Given the description of an element on the screen output the (x, y) to click on. 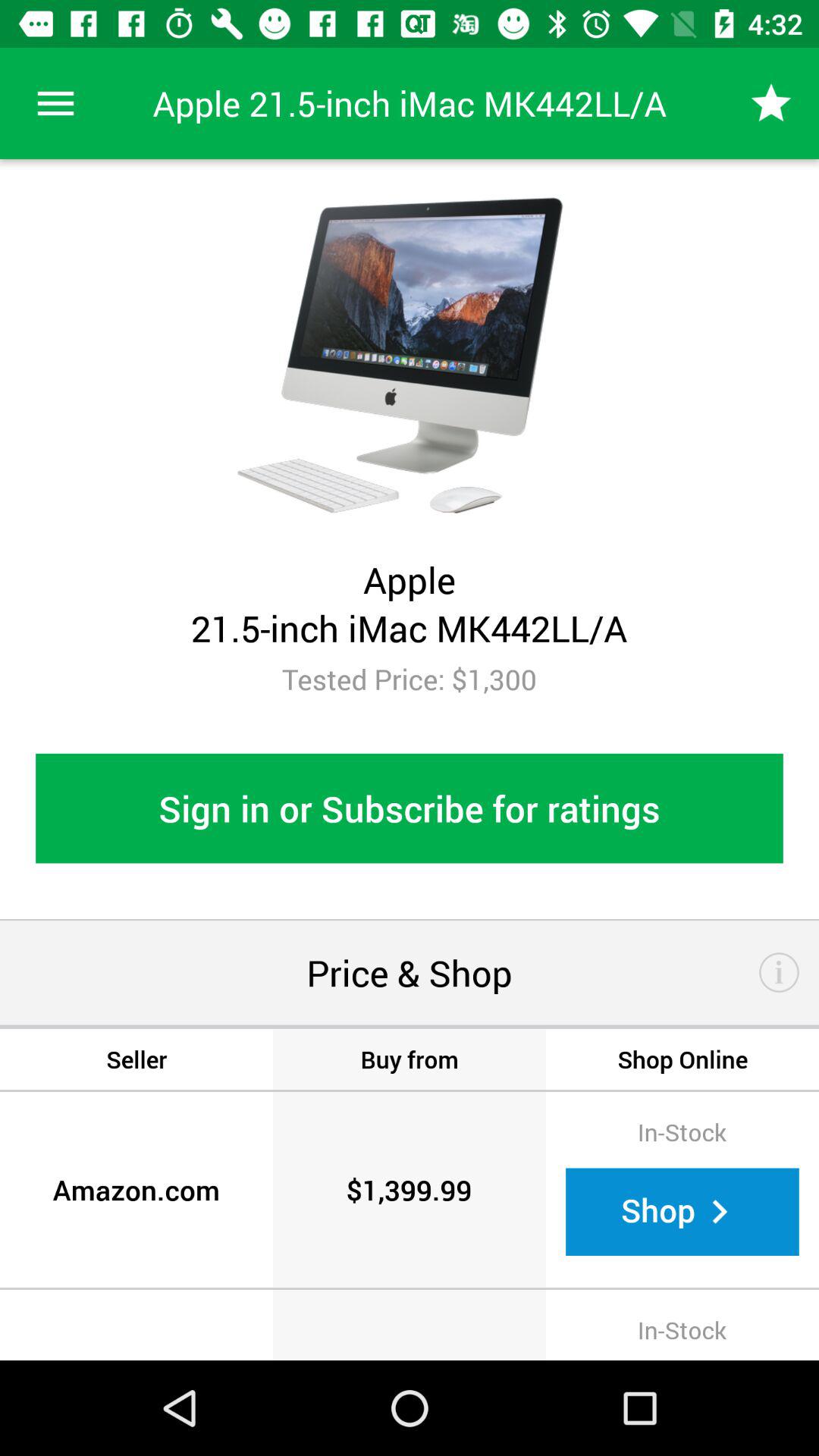
see more information (779, 972)
